Given the description of an element on the screen output the (x, y) to click on. 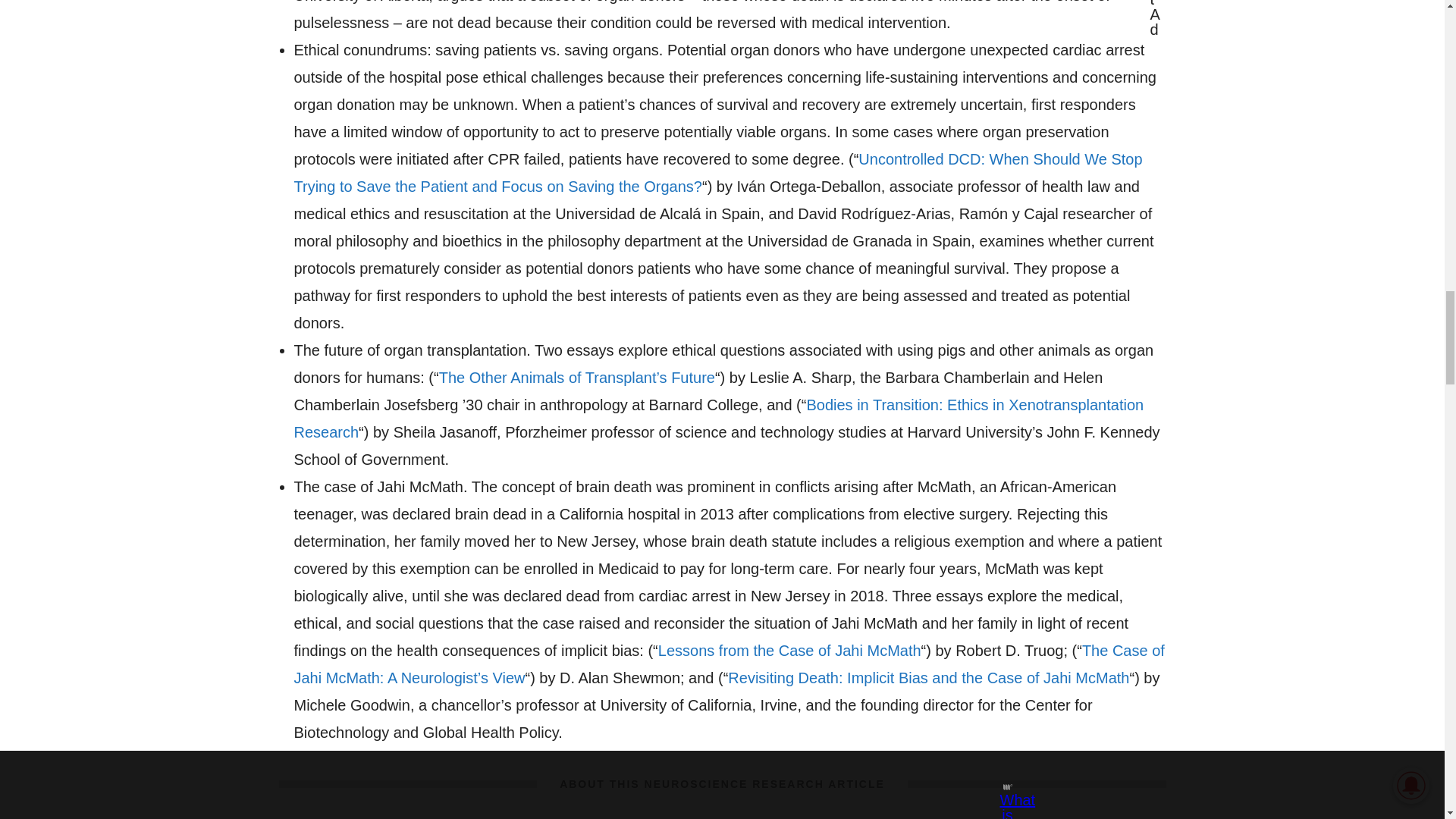
Revisiting Death: Implicit Bias and the Case of Jahi McMath (928, 677)
Lessons from the Case of Jahi McMath (789, 650)
Bodies in Transition: Ethics in Xenotransplantation Research (719, 418)
